Given the description of an element on the screen output the (x, y) to click on. 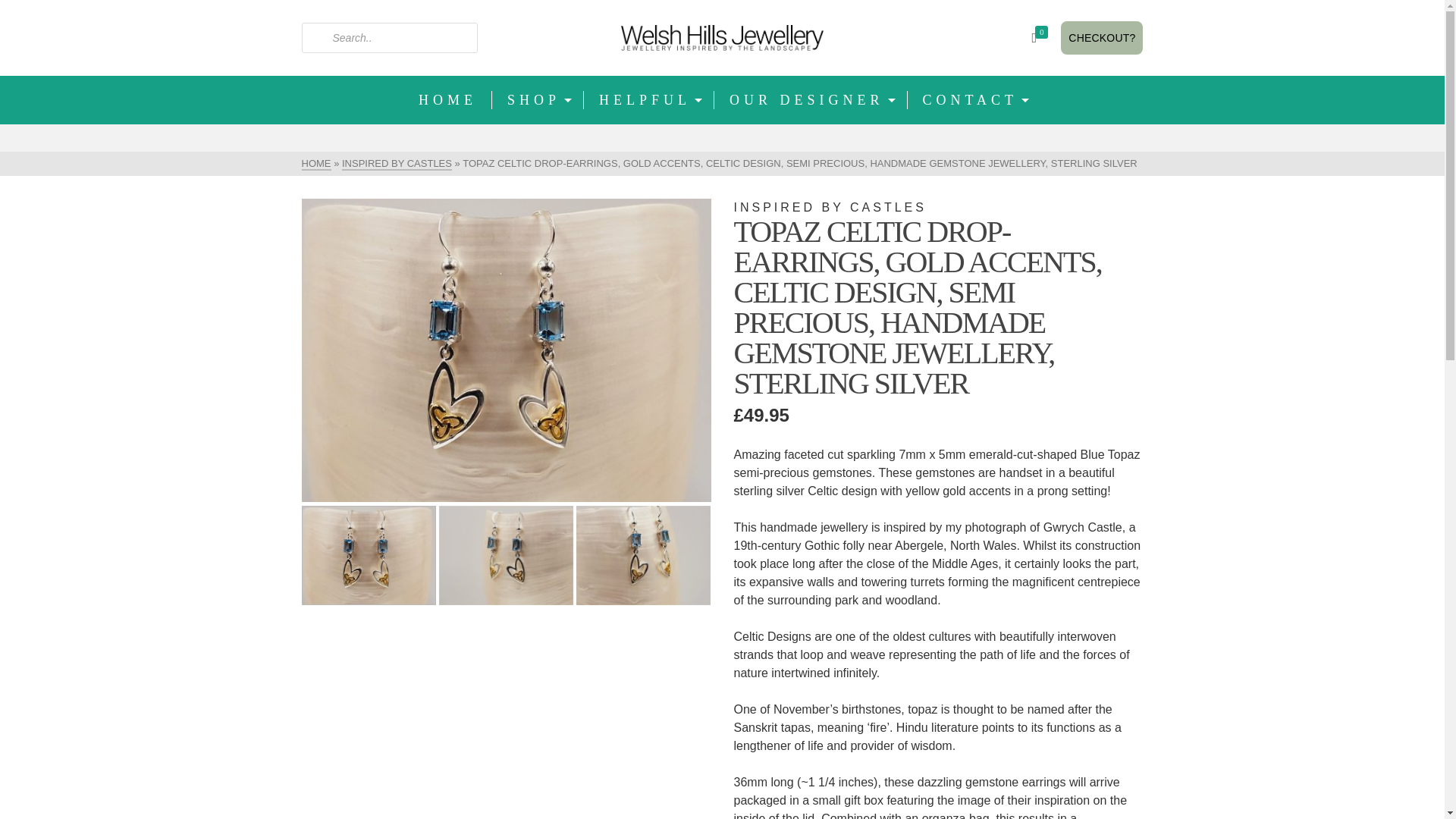
HELPFUL (648, 100)
HOME (447, 100)
INSPIRED BY CASTLES (396, 164)
CHECKOUT? (1101, 37)
HOME (316, 164)
SHOP (537, 100)
OUR DESIGNER (810, 100)
0 (1042, 38)
6158-2 (506, 350)
CONTACT (974, 100)
